Given the description of an element on the screen output the (x, y) to click on. 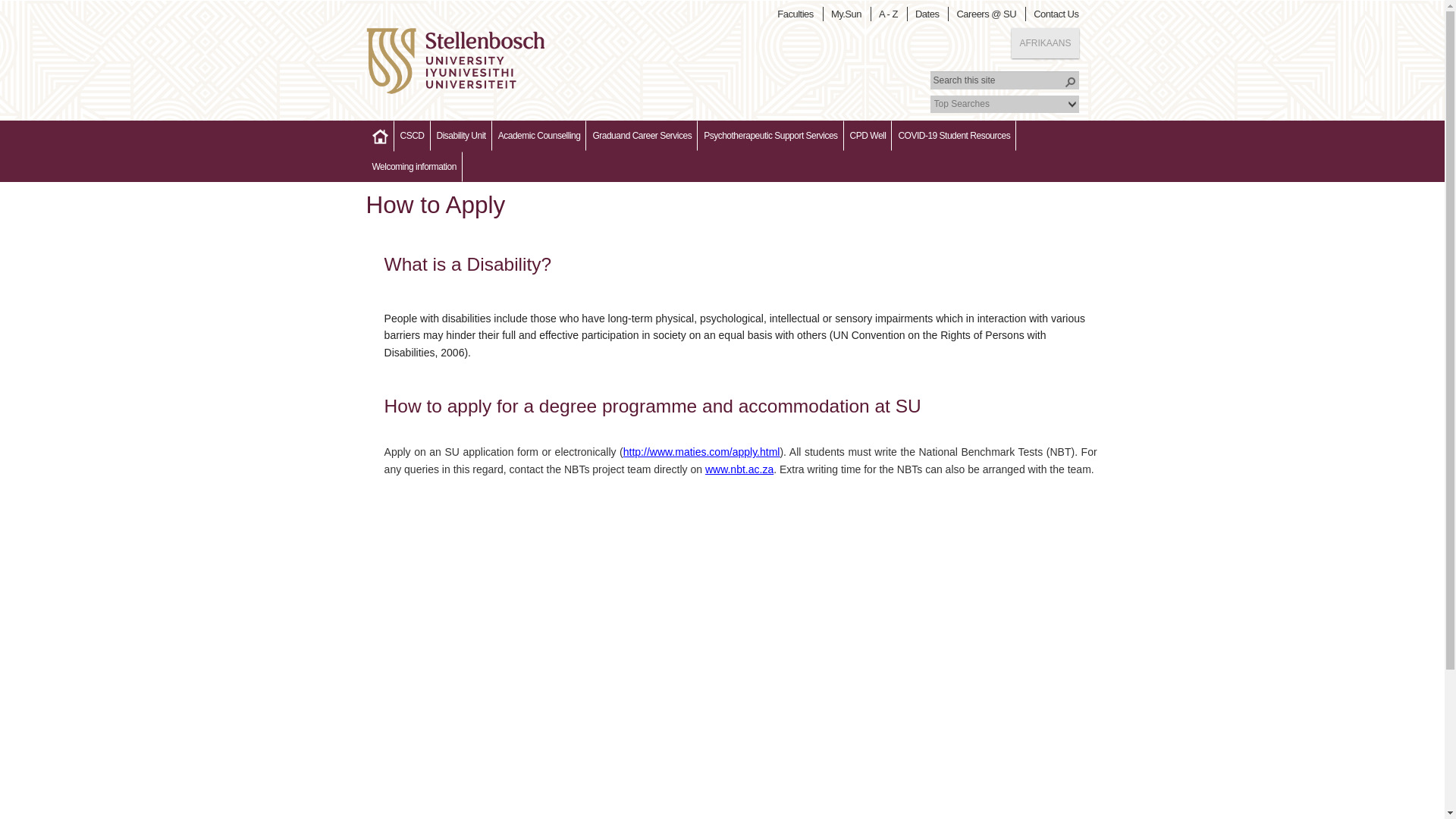
Search this site (1004, 80)
Faculties (798, 13)
Welcoming information (413, 166)
Disability Unit (461, 135)
Graduand Career Services (641, 135)
Psychotherapeutic Support Services (770, 135)
Search (1069, 81)
Dates (930, 13)
CPD Well (868, 135)
AFRIKAANS (1044, 42)
A - Z (891, 13)
Academic Counselling (539, 135)
Contact Us (1058, 13)
My.Sun (848, 13)
COVID-19 Student Resources (953, 135)
